Given the description of an element on the screen output the (x, y) to click on. 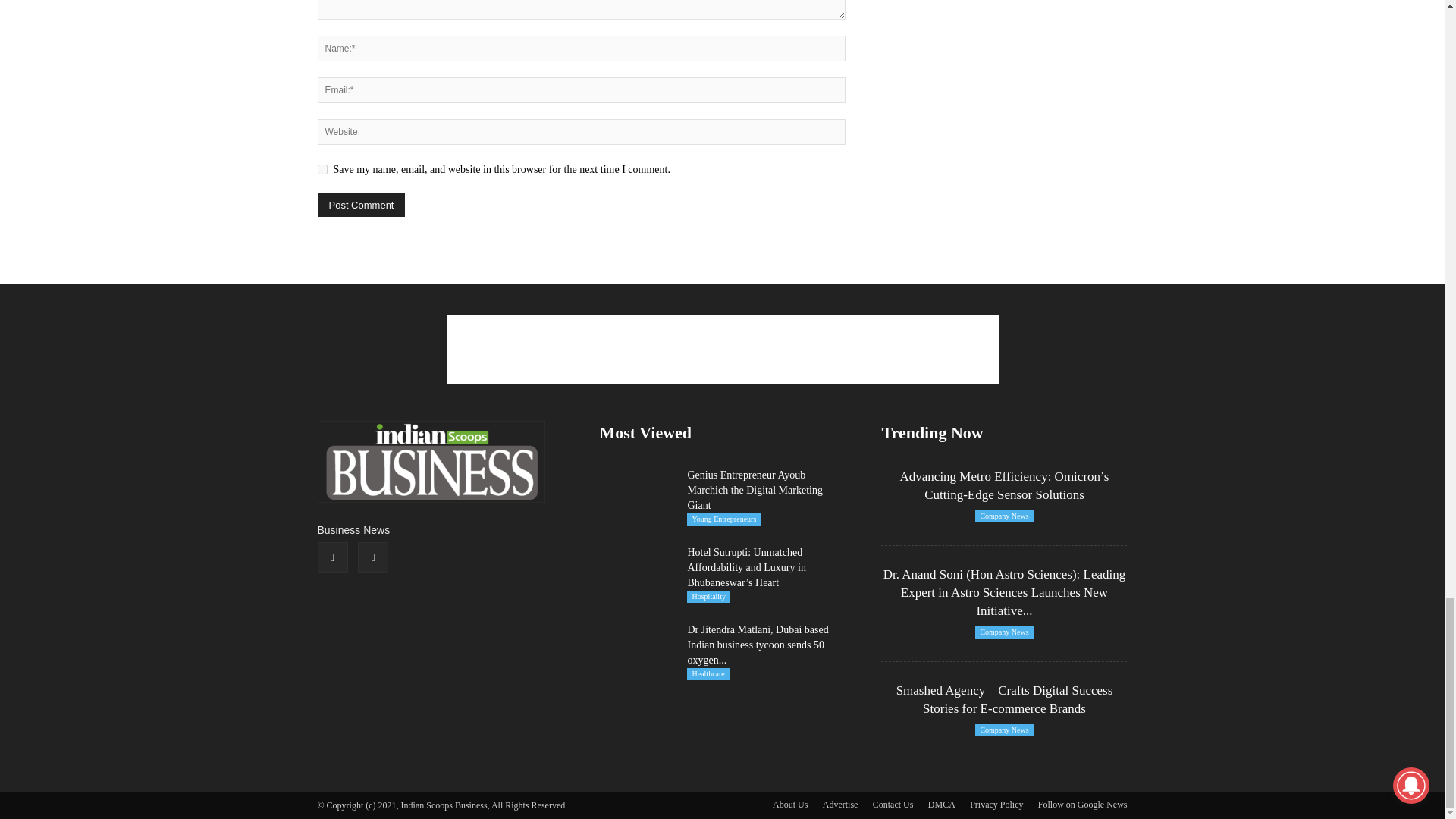
Post Comment (360, 205)
yes (321, 169)
